Given the description of an element on the screen output the (x, y) to click on. 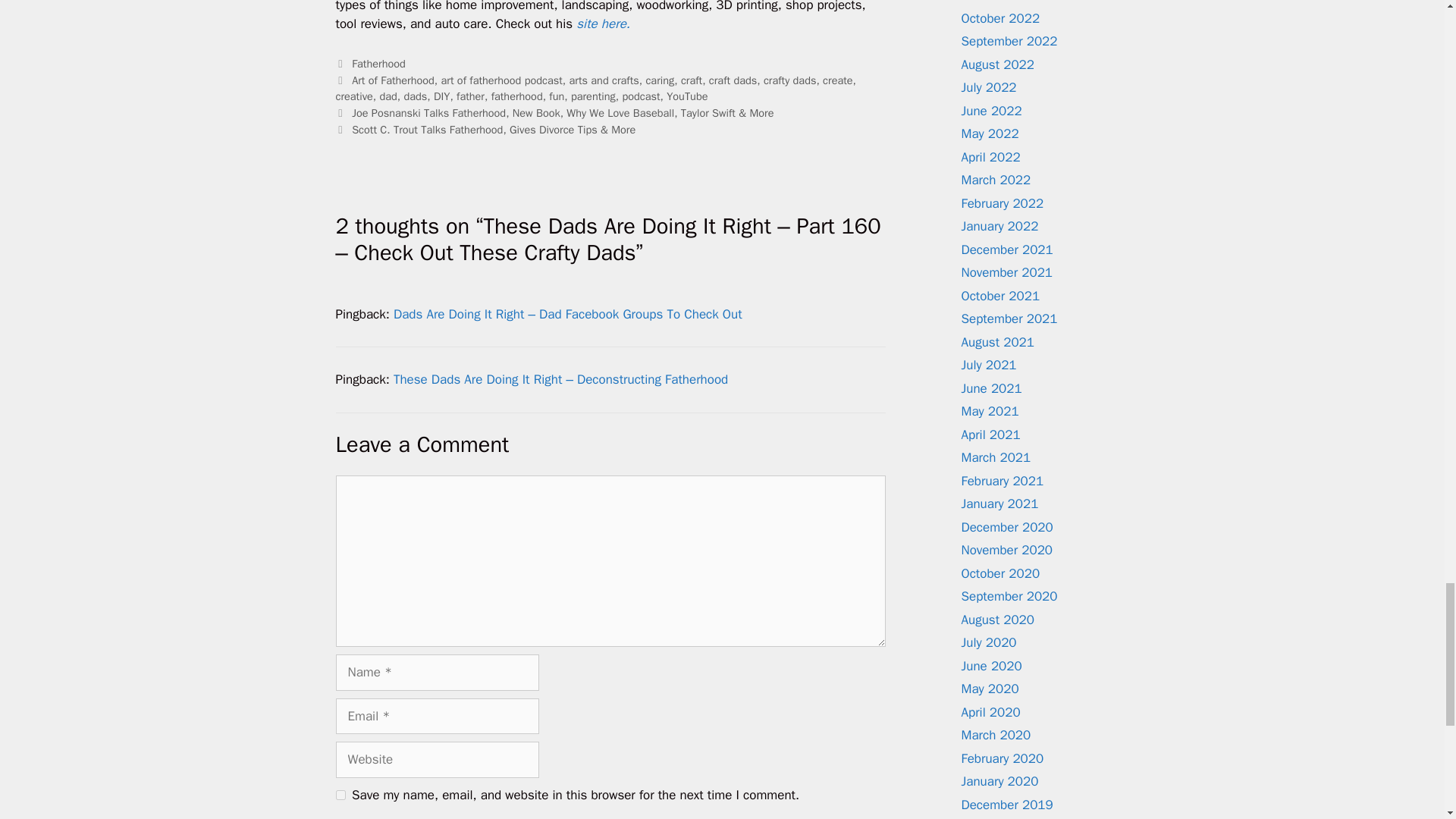
arts and crafts (604, 79)
parenting (592, 96)
creative (353, 96)
art of fatherhood podcast (501, 79)
craft dads (733, 79)
craft (691, 79)
dads (414, 96)
dad (387, 96)
fatherhood (517, 96)
fun (556, 96)
site here.  (604, 23)
caring (659, 79)
Art of Fatherhood (392, 79)
Fatherhood (379, 63)
father (470, 96)
